Given the description of an element on the screen output the (x, y) to click on. 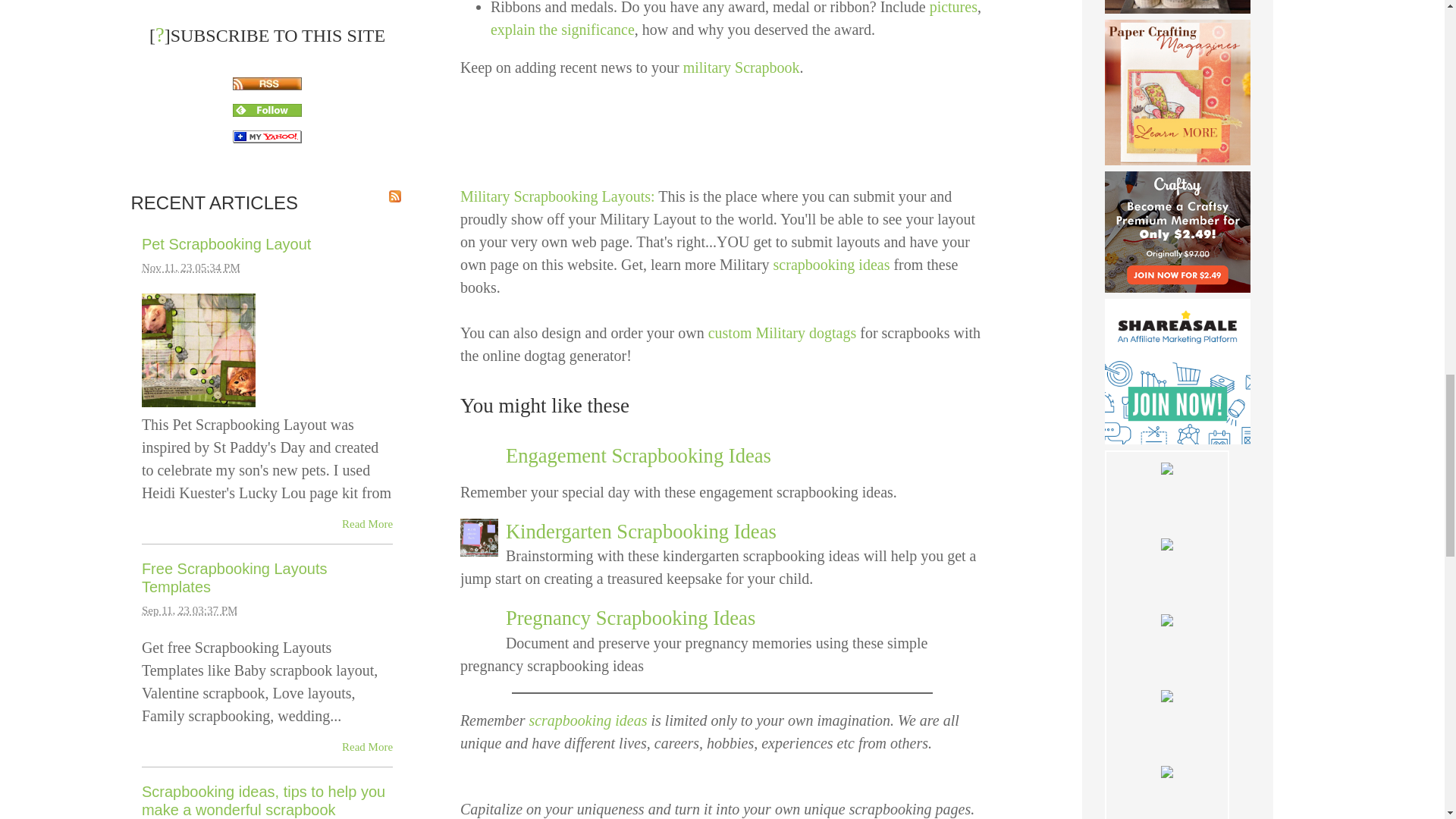
Pregnancy Scrapbooking Ideas (630, 617)
military Scrapbook (740, 67)
Kindergarten Scrapbooking Ideas (640, 531)
custom Military dogtags (783, 332)
explain the significance (562, 29)
Engagement Scrapbooking Ideas (638, 455)
2023-11-11T17:34:42-0500 (190, 267)
2023-09-11T15:37:16-0400 (189, 610)
